Given the description of an element on the screen output the (x, y) to click on. 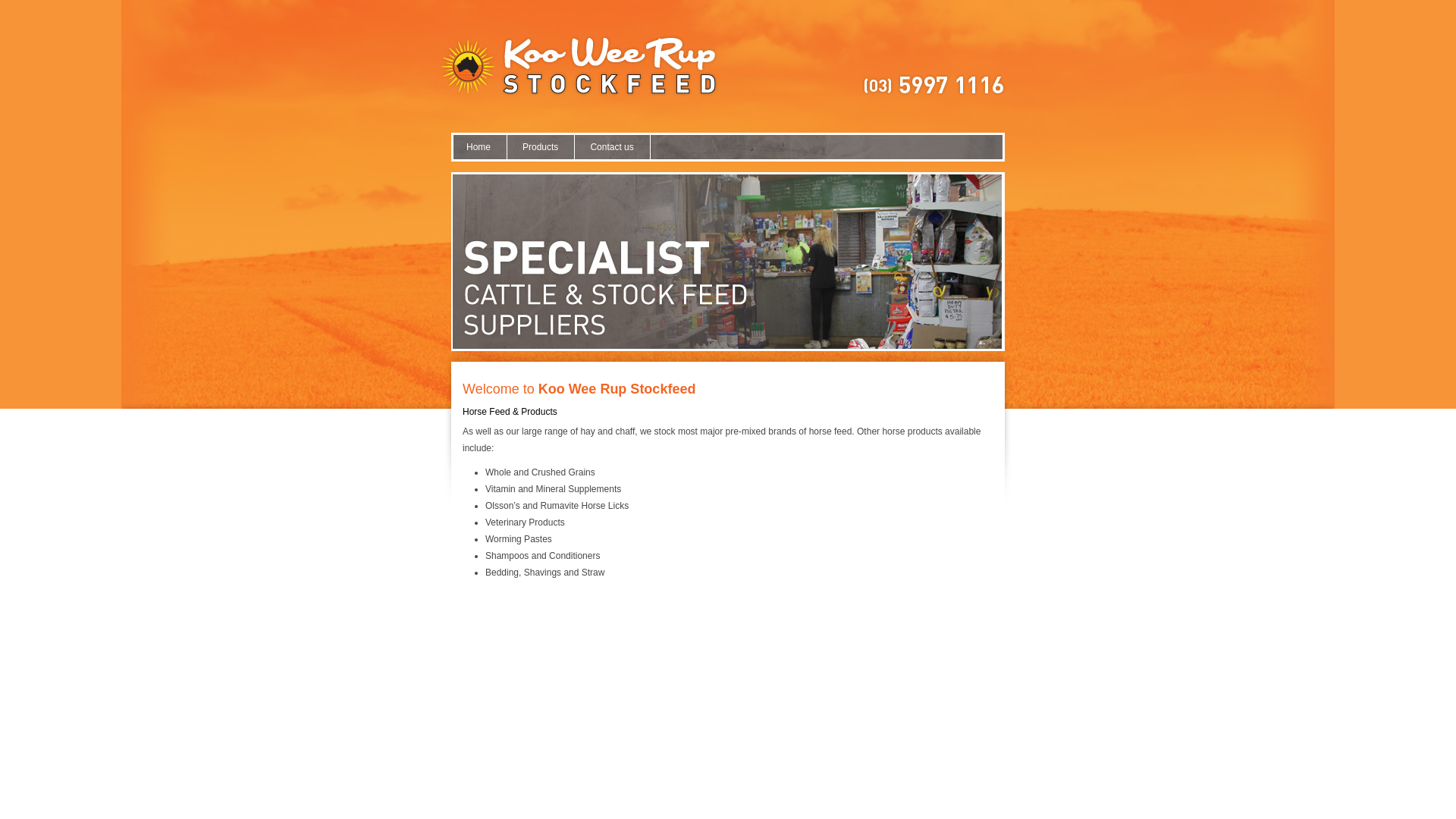
Contact us Element type: text (611, 146)
Home Element type: text (478, 146)
Products Element type: text (540, 146)
